Given the description of an element on the screen output the (x, y) to click on. 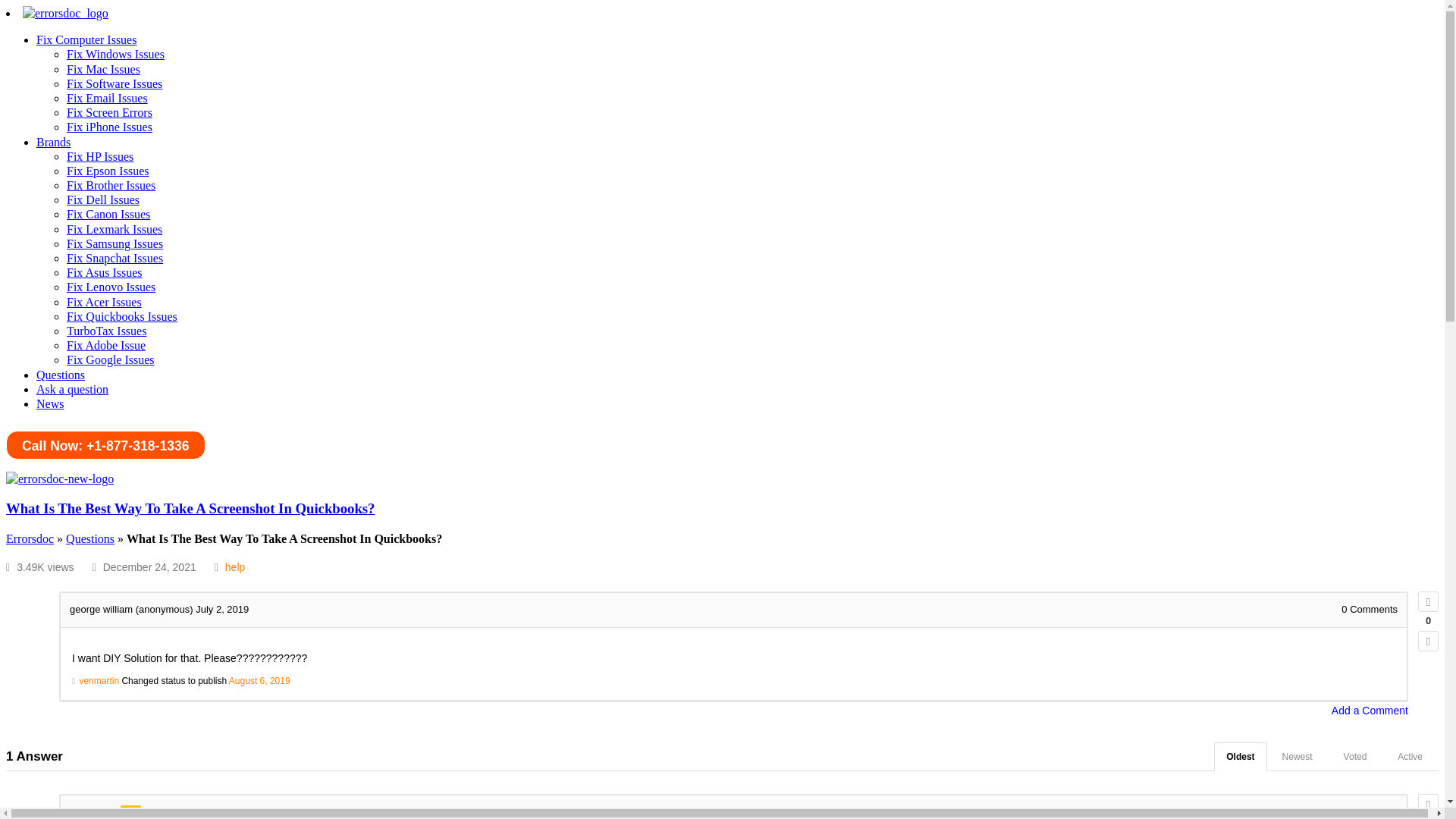
Fix Epson Issues (107, 170)
Fix HP Issues (99, 155)
Fix Software Issues (113, 83)
What Is The Best Way To Take A Screenshot In Quickbooks? (189, 508)
Fix iPhone Issues (109, 126)
Fix Email Issues (107, 97)
Fix Quickbooks Issues (121, 316)
Fix Dell Issues (102, 199)
Fix Lexmark Issues (113, 228)
Brands (52, 141)
Fix Epson Issues (107, 170)
TurboTax Issues (106, 330)
Fix HP Issues (99, 155)
Fix Google Issues (110, 359)
Fix Canon Issues (107, 214)
